Given the description of an element on the screen output the (x, y) to click on. 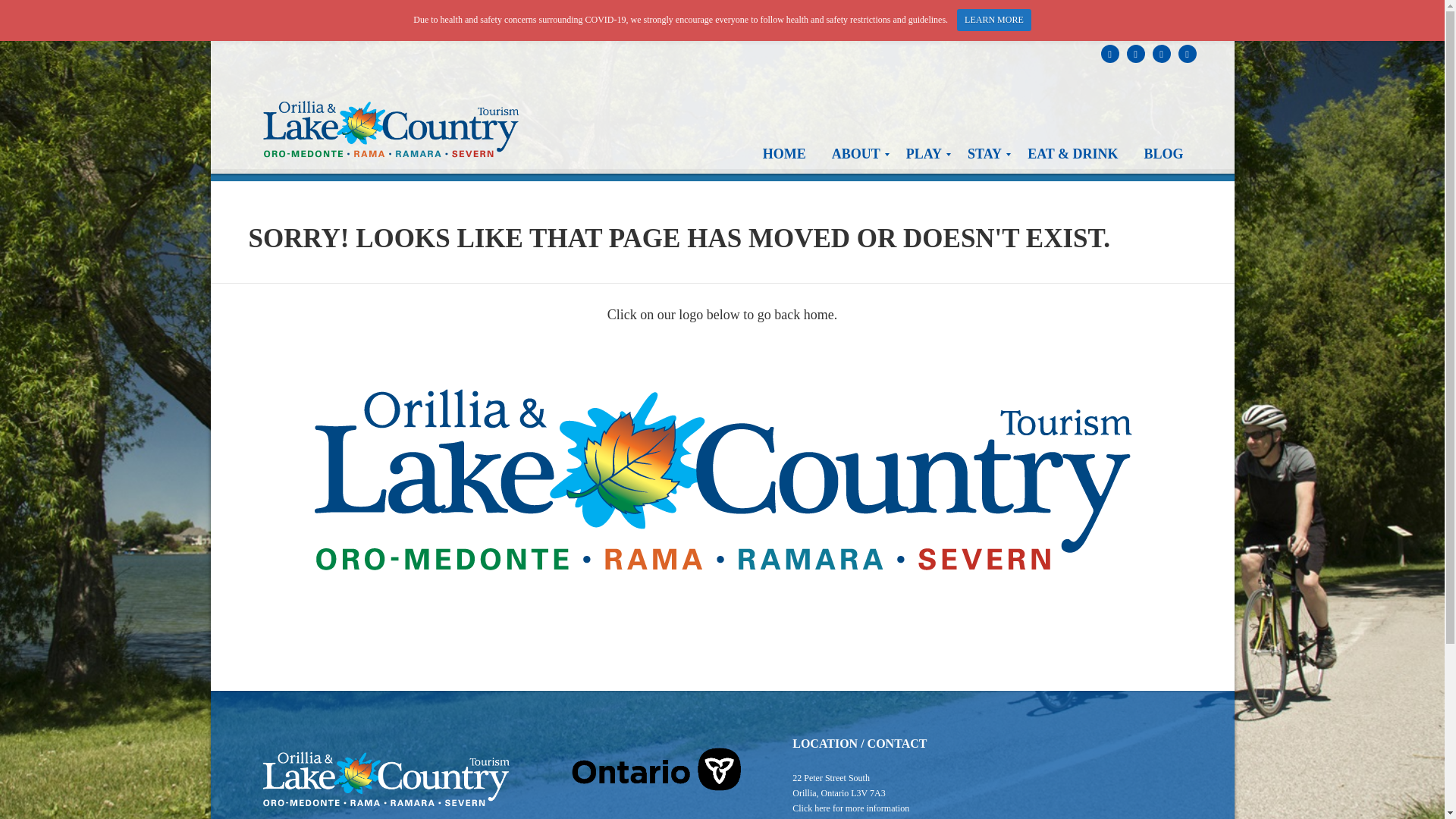
STAY (984, 154)
HOME (783, 154)
